Given the description of an element on the screen output the (x, y) to click on. 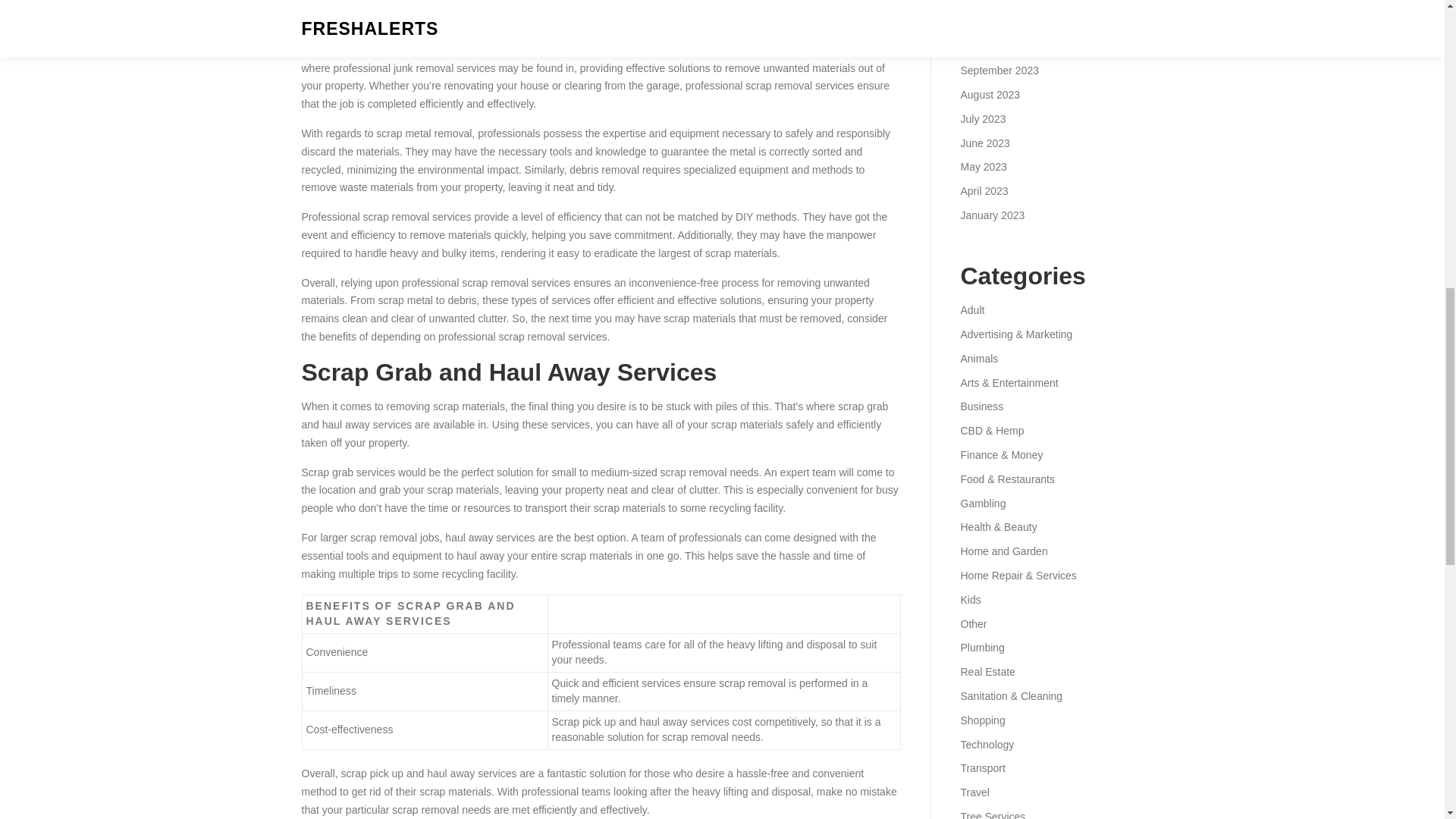
December 2023 (997, 2)
January 2023 (992, 215)
August 2023 (989, 94)
May 2023 (982, 166)
April 2023 (983, 191)
Adult (971, 309)
July 2023 (982, 119)
June 2023 (984, 143)
September 2023 (999, 70)
November 2023 (997, 22)
Business (981, 406)
October 2023 (992, 46)
Animals (978, 358)
